Given the description of an element on the screen output the (x, y) to click on. 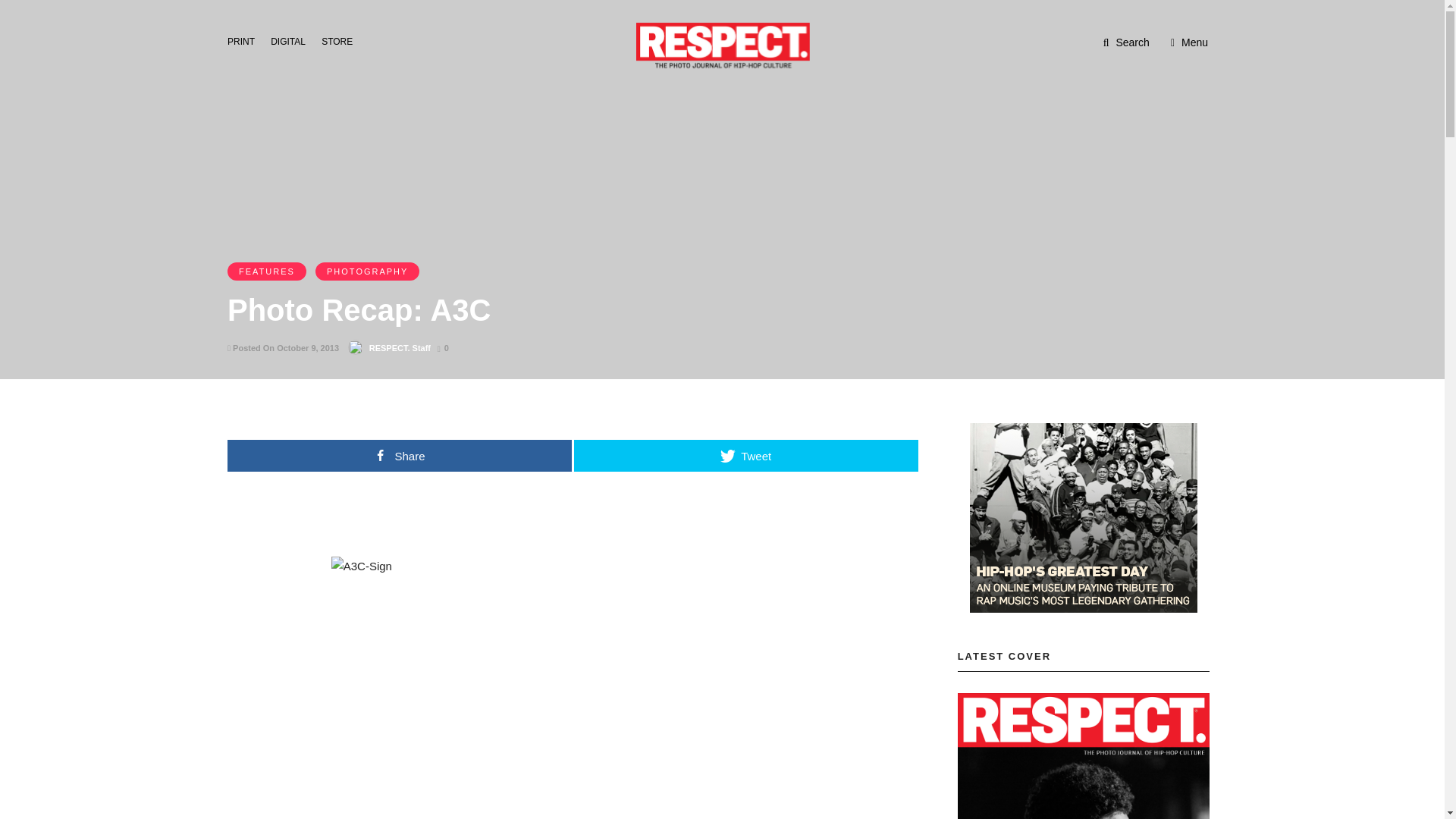
DIGITAL (292, 40)
STORE (341, 40)
PHOTOGRAPHY (367, 271)
Menu (1189, 41)
FEATURES (266, 271)
Search (1126, 41)
PRINT (245, 40)
